Given the description of an element on the screen output the (x, y) to click on. 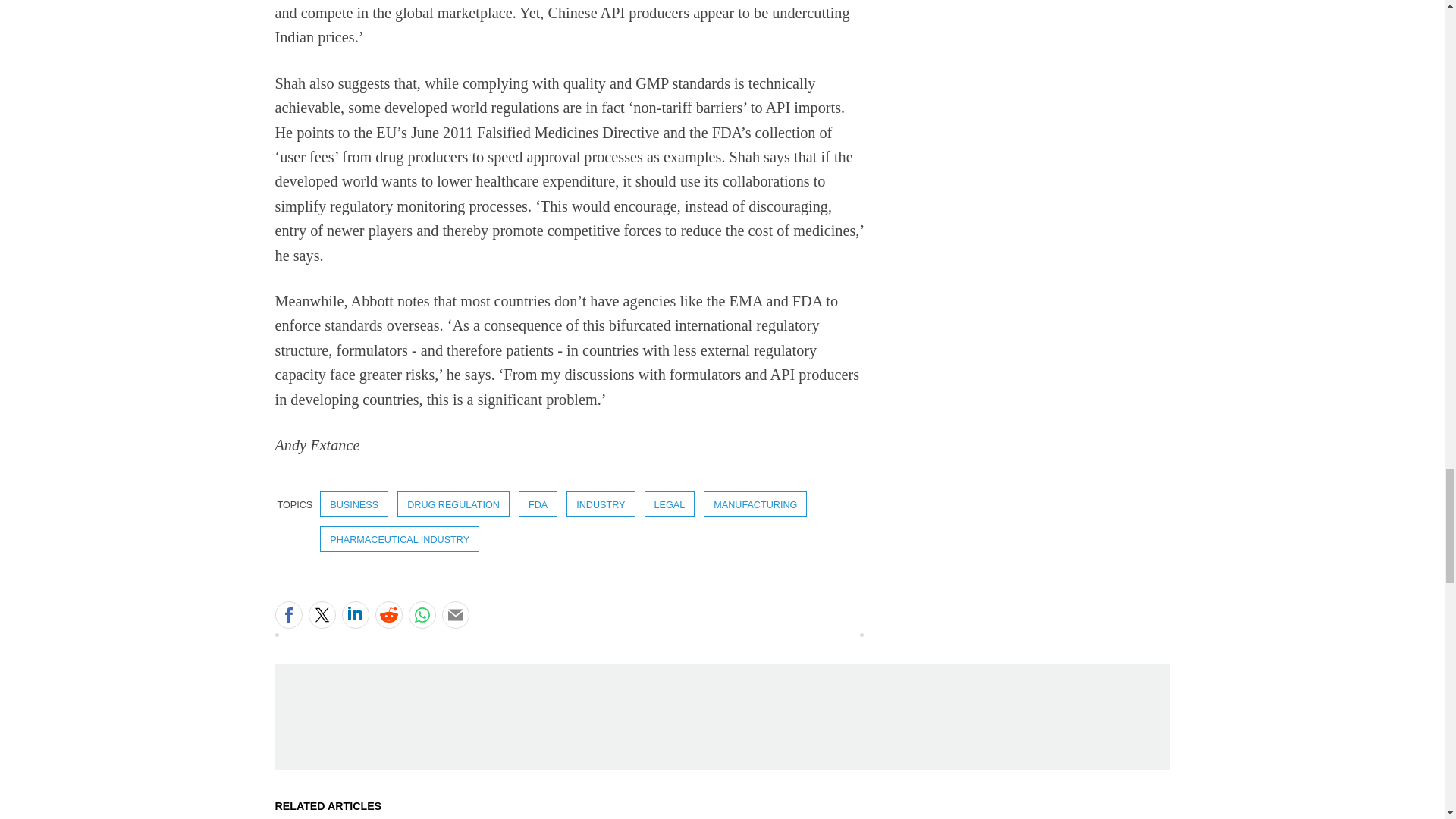
Share this on Reddit (387, 614)
Share this on Facebook (288, 614)
NO COMMENTS (492, 623)
Share this on LinkedIn (354, 614)
Share this by email (454, 614)
Share this on WhatsApp (421, 614)
